Given the description of an element on the screen output the (x, y) to click on. 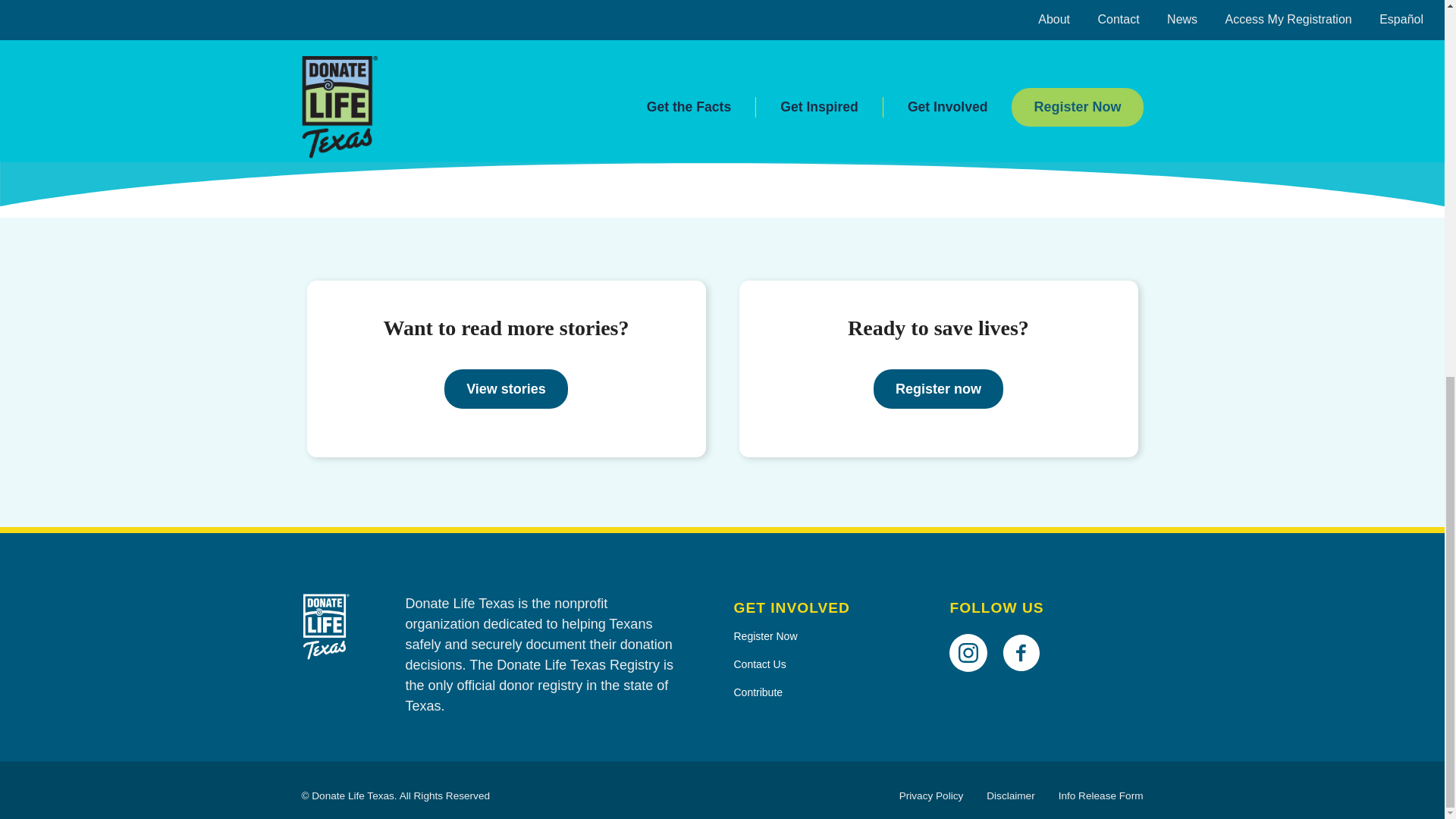
Instagram - Donate Life Texas (973, 631)
View stories (505, 388)
Info Release Form (1100, 795)
Disclaimer (1010, 795)
Register Now (829, 636)
Contribute (829, 692)
Register now (938, 388)
Privacy Policy (931, 795)
Texas Organ Sharing Alliance (509, 150)
Facebook - Donate Life Texas (1027, 631)
Contact Us (829, 664)
